Given the description of an element on the screen output the (x, y) to click on. 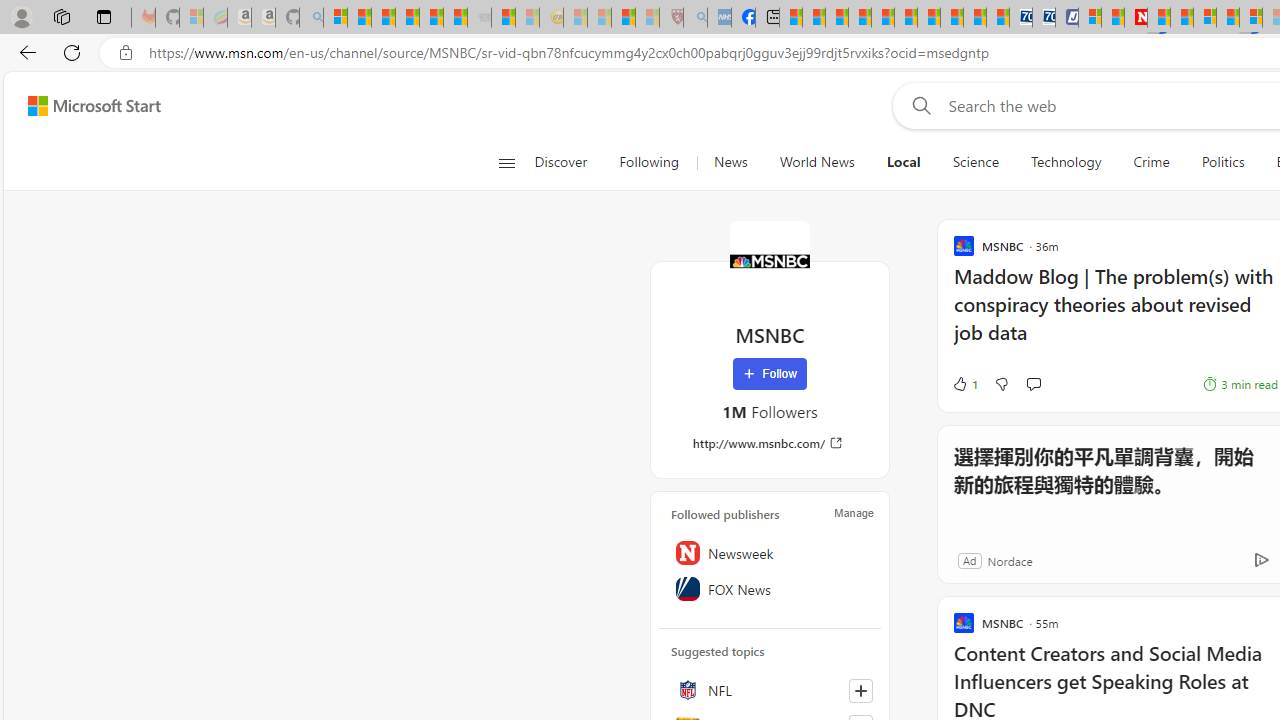
Start the conversation (1033, 384)
Science - MSN (622, 17)
Microsoft-Report a Concern to Bing - Sleeping (191, 17)
Follow this topic (860, 690)
The Weather Channel - MSN (383, 17)
World - MSN (836, 17)
